Given the description of an element on the screen output the (x, y) to click on. 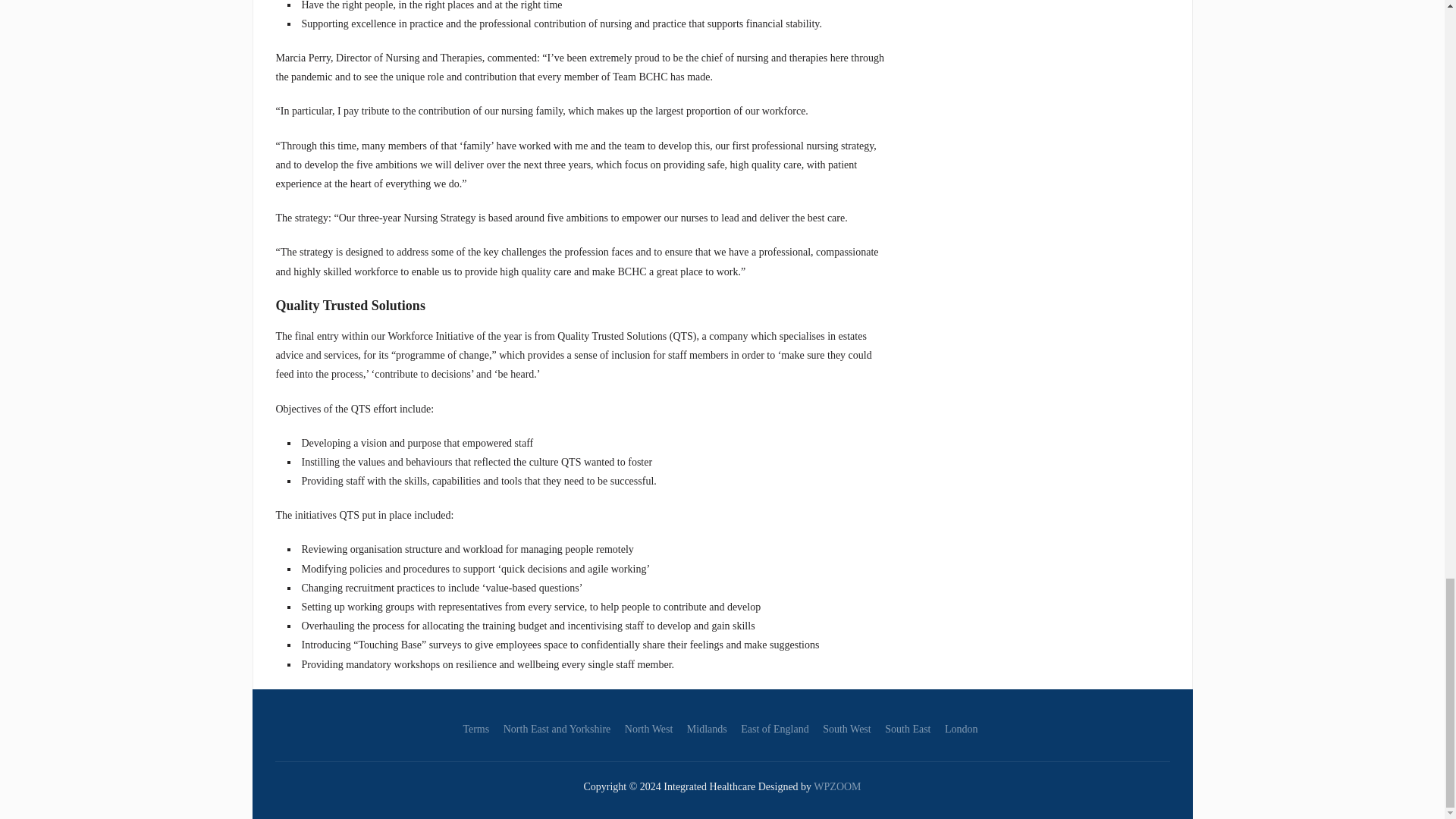
WPZOOM WordPress Themes (836, 786)
